Given the description of an element on the screen output the (x, y) to click on. 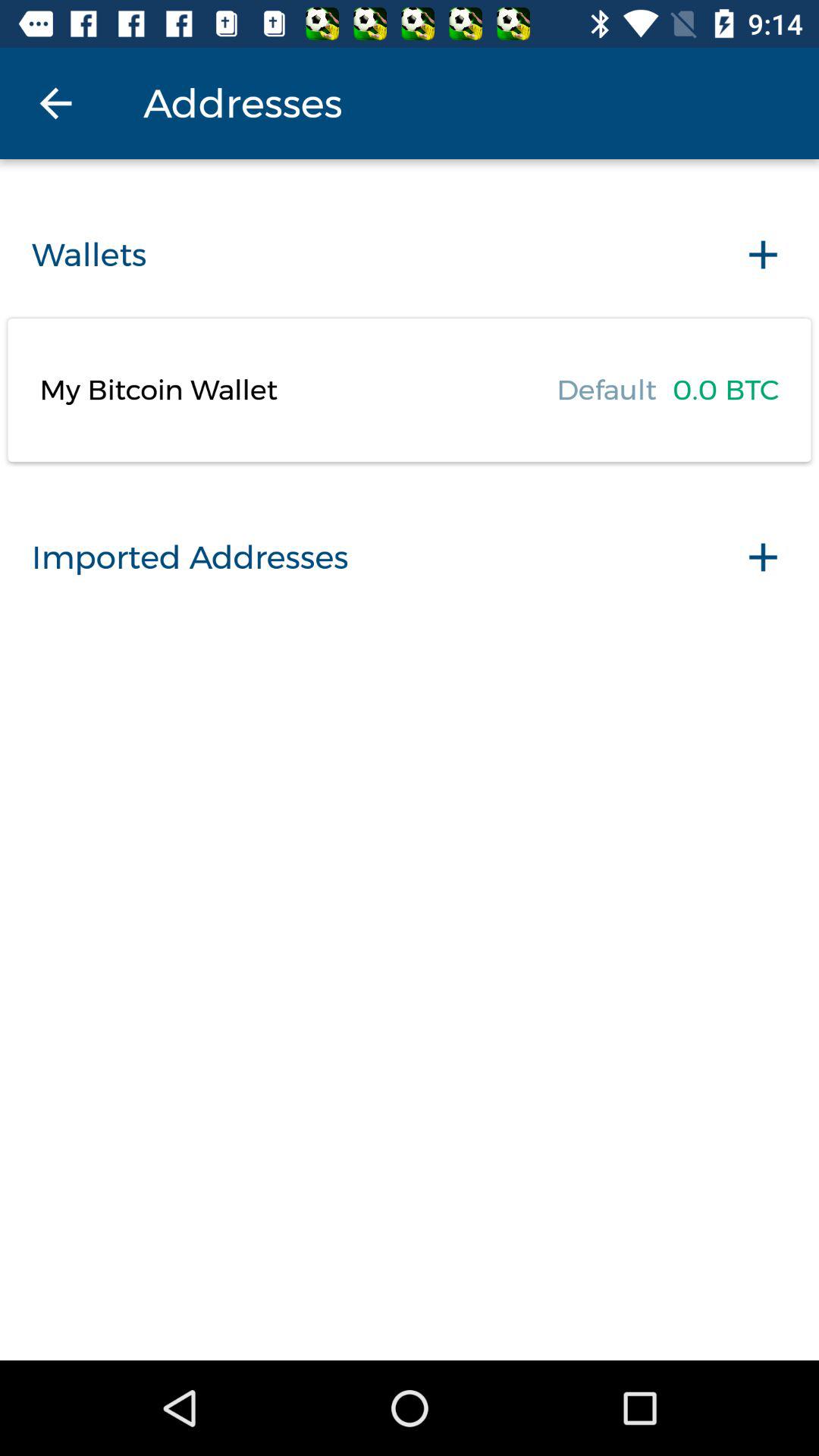
open item to the left of the addresses (55, 103)
